Given the description of an element on the screen output the (x, y) to click on. 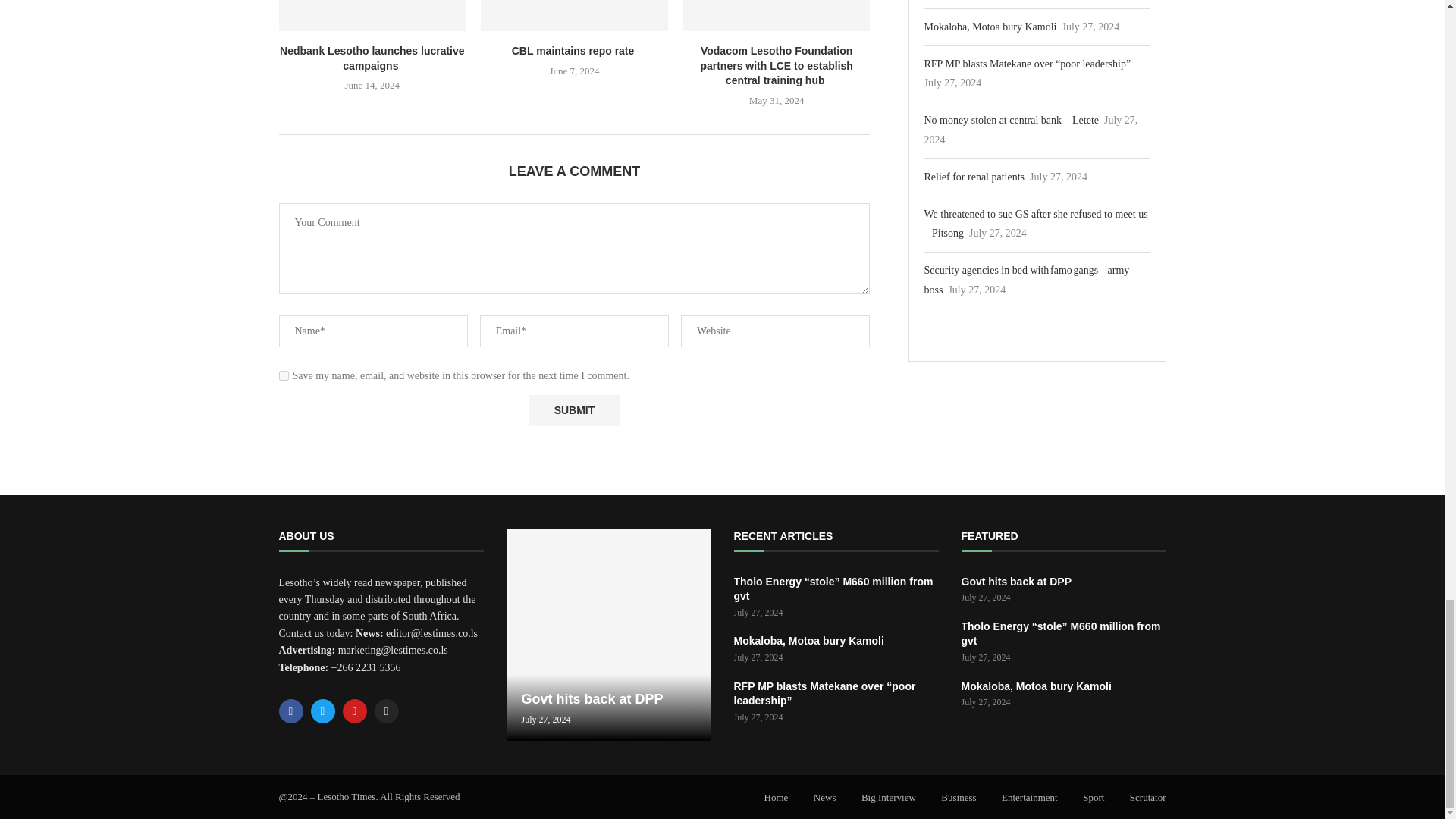
yes (283, 375)
Submit (574, 409)
